Given the description of an element on the screen output the (x, y) to click on. 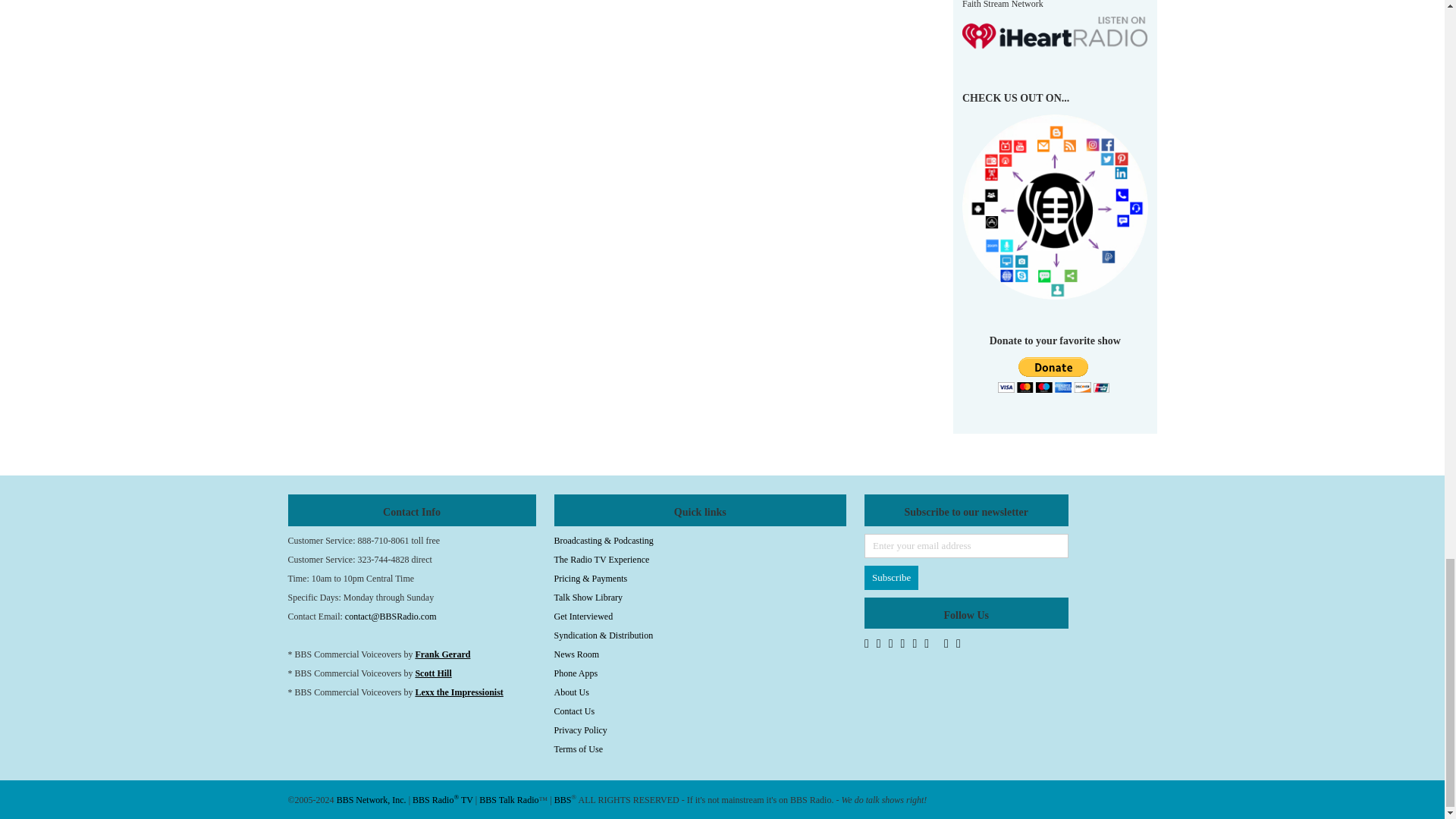
Subscribe (891, 577)
